Given the description of an element on the screen output the (x, y) to click on. 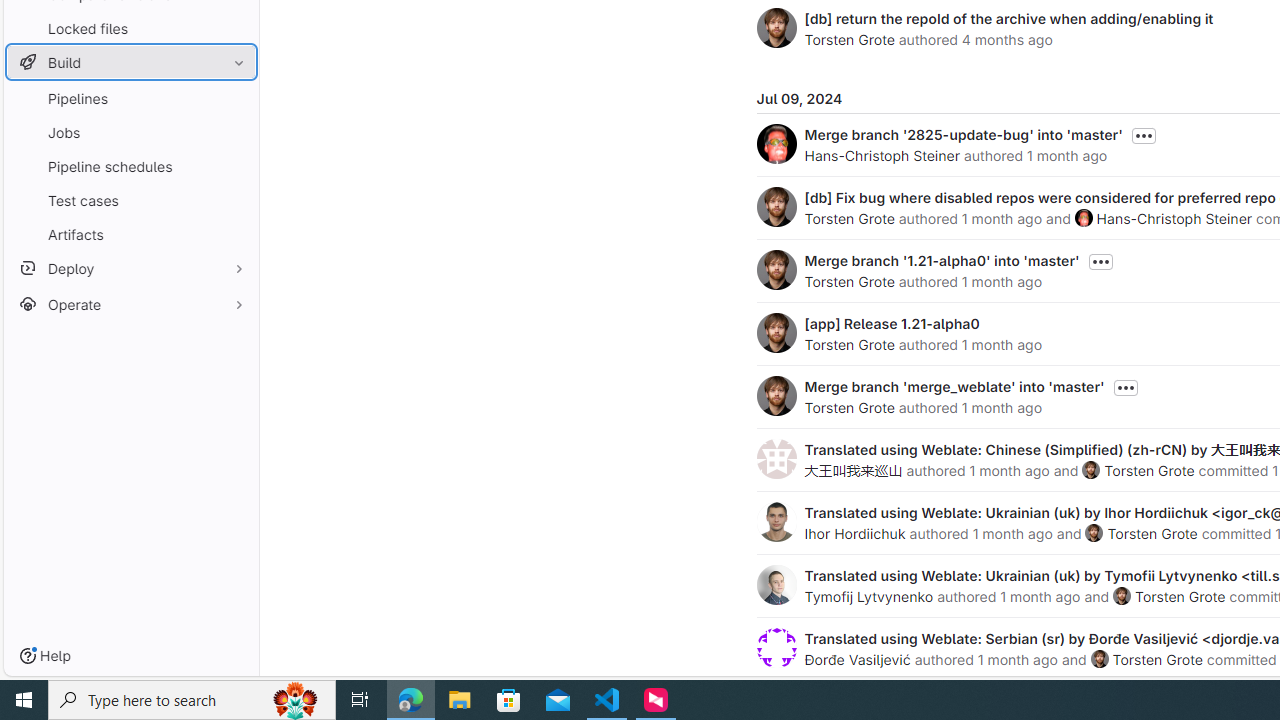
Tymofij Lytvynenko (868, 596)
Jobs (130, 132)
Build (130, 62)
BuildPipelinesJobsPipeline schedulesTest casesArtifacts (130, 148)
Test cases (130, 200)
Pin Jobs (234, 132)
Ihor Hordiichuk (854, 533)
Torsten Grote's avatar (1099, 659)
Pipelines (130, 98)
Hans-Christoph Steiner's avatar (1083, 217)
Operate (130, 304)
Hans-Christoph Steiner's avatar (1083, 217)
Deploy (130, 268)
